Given the description of an element on the screen output the (x, y) to click on. 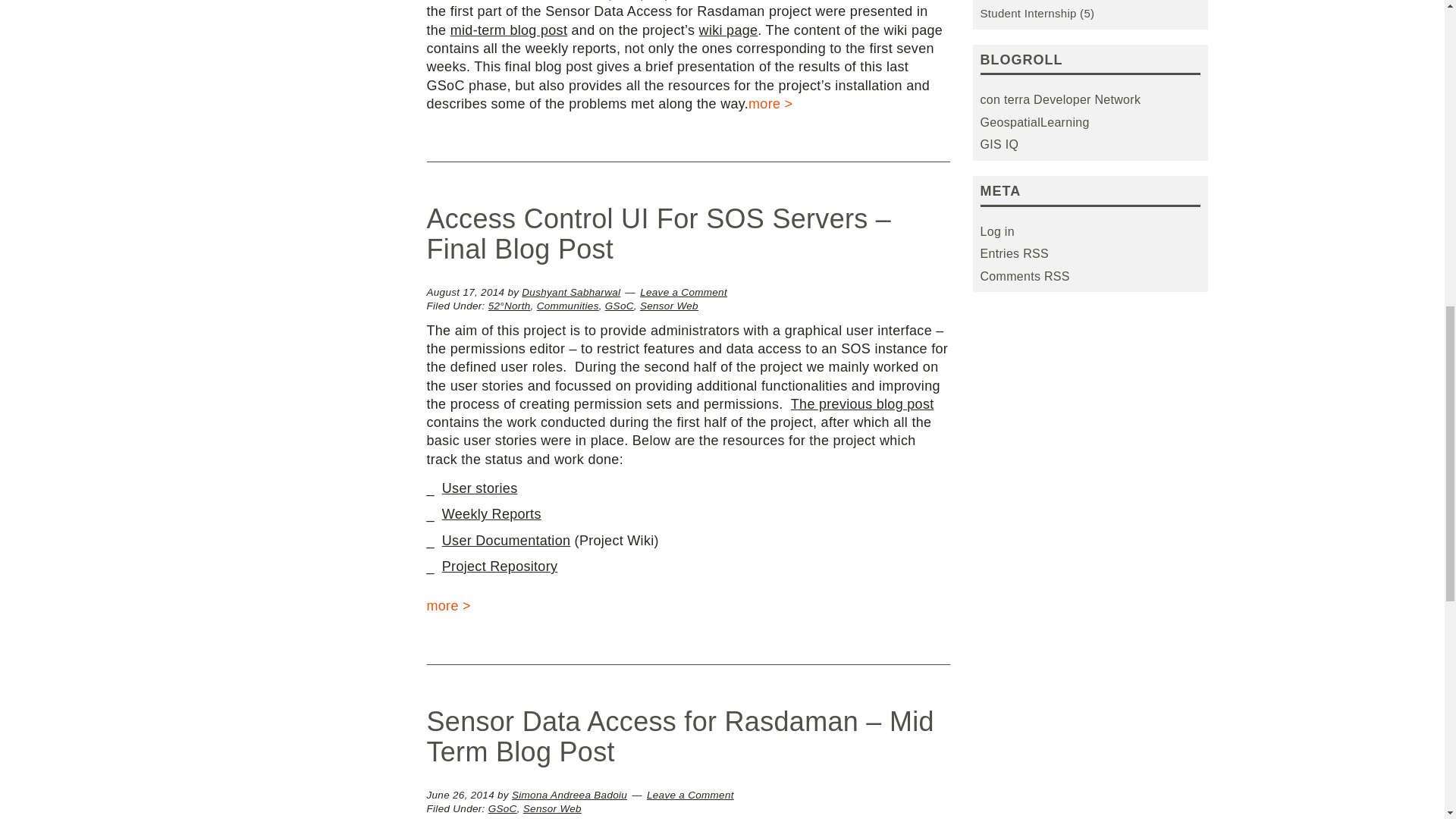
Documentaiton (506, 540)
User Stories (480, 488)
Project Repo (499, 566)
Weekly Reports (491, 513)
Mid Term Blog Post (862, 403)
Sensor Data Access for Rasdaman wiki (728, 29)
